Given the description of an element on the screen output the (x, y) to click on. 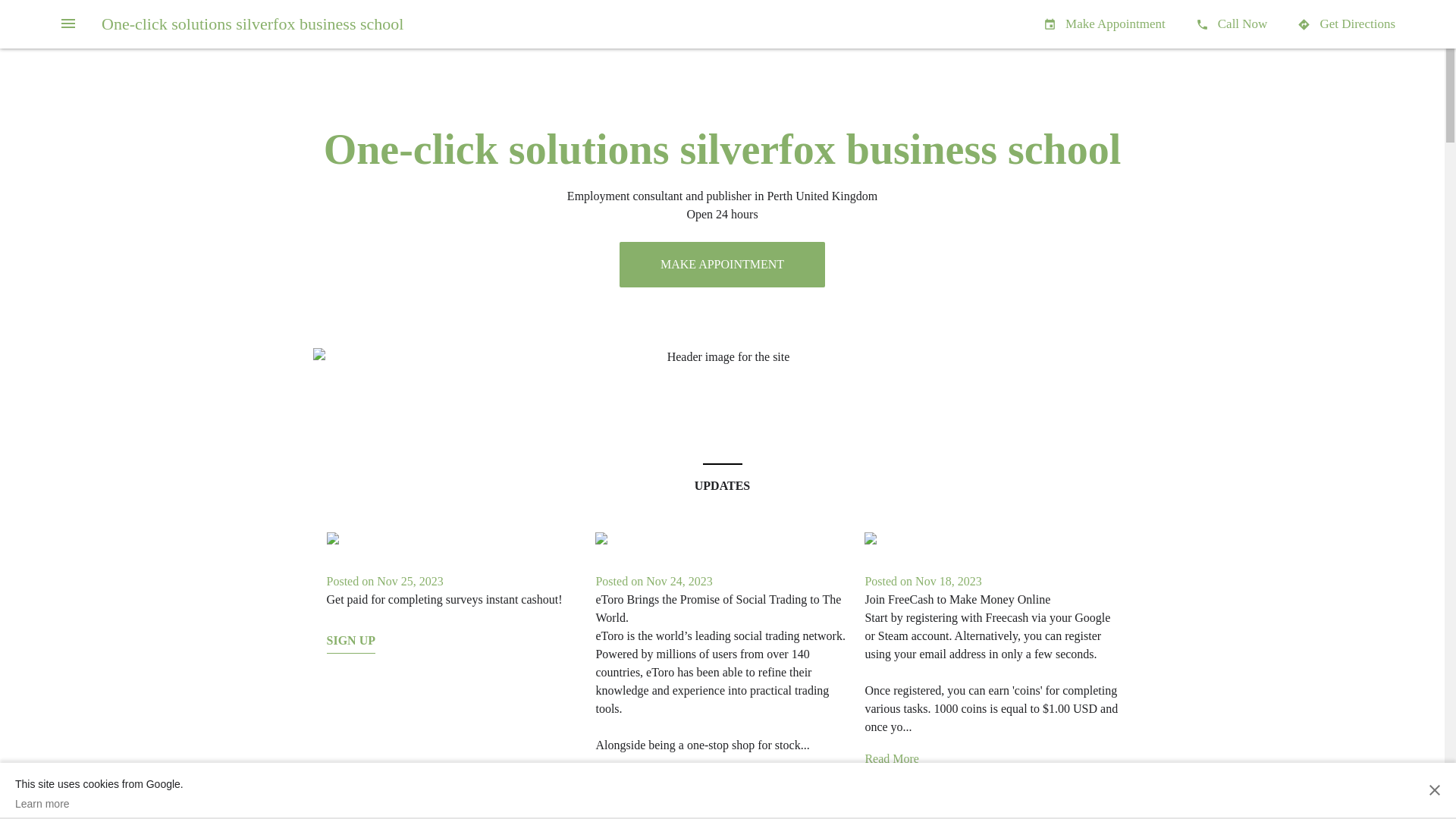
Posted on Nov 18, 2023 Element type: text (922, 580)
Read More Element type: text (891, 758)
SIGN UP Element type: text (350, 643)
SIGN UP Element type: text (888, 802)
MAKE APPOINTMENT Element type: text (722, 264)
Posted on Nov 24, 2023 Element type: text (653, 580)
One-click solutions silverfox business school Element type: text (252, 23)
Learn more Element type: text (99, 803)
Posted on Nov 25, 2023 Element type: text (384, 580)
Read More Element type: text (622, 777)
